Given the description of an element on the screen output the (x, y) to click on. 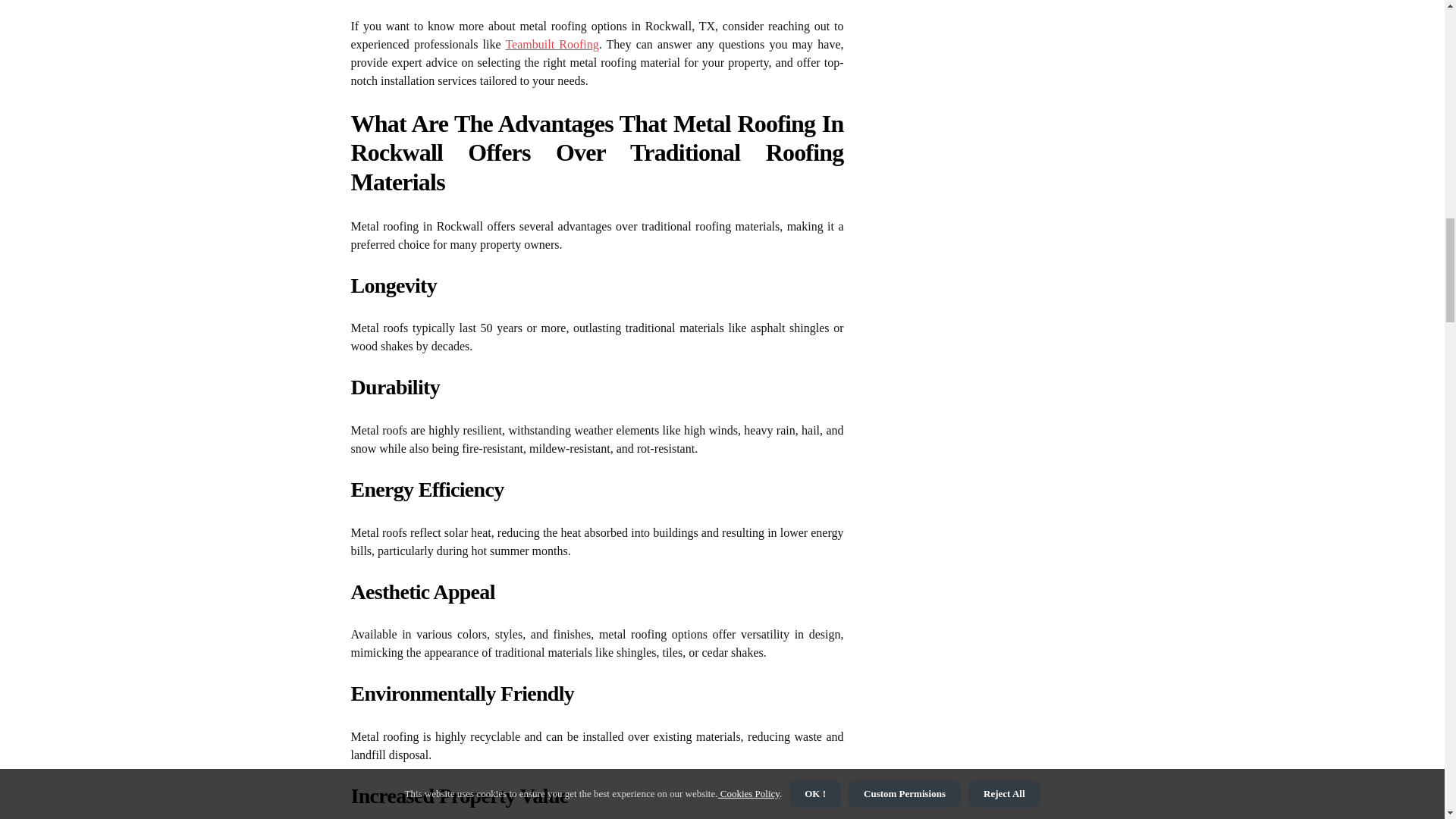
Teambuilt Roofing (551, 43)
